Given the description of an element on the screen output the (x, y) to click on. 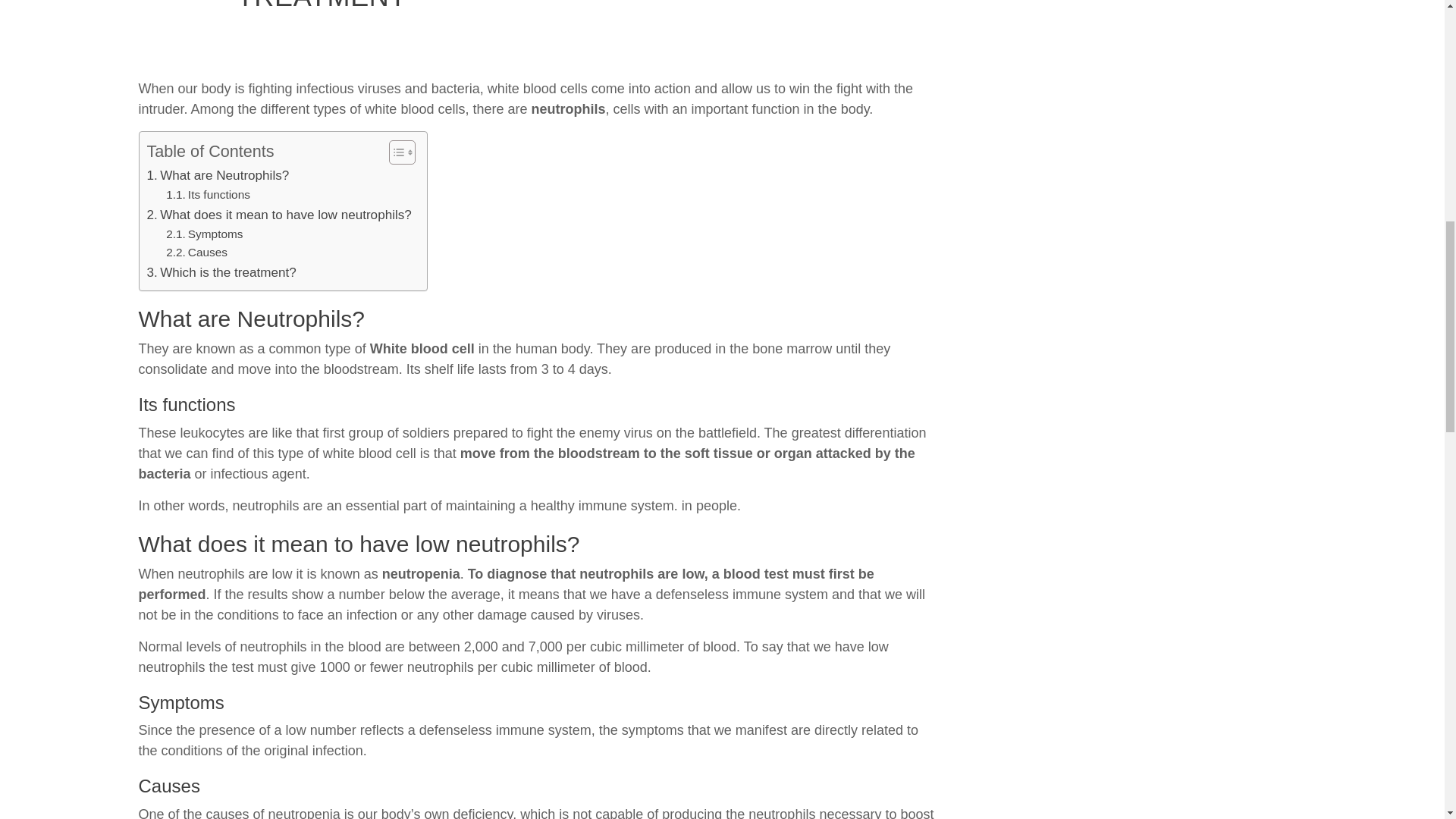
Causes (196, 470)
Symptoms (204, 452)
Which is the treatment? (222, 490)
What are Neutrophils? (218, 394)
What are Neutrophils? (218, 394)
Which is the treatment? (222, 490)
Symptoms (204, 452)
What does it mean to have low neutrophils? (279, 433)
Its functions (207, 413)
Its functions (207, 413)
